Given the description of an element on the screen output the (x, y) to click on. 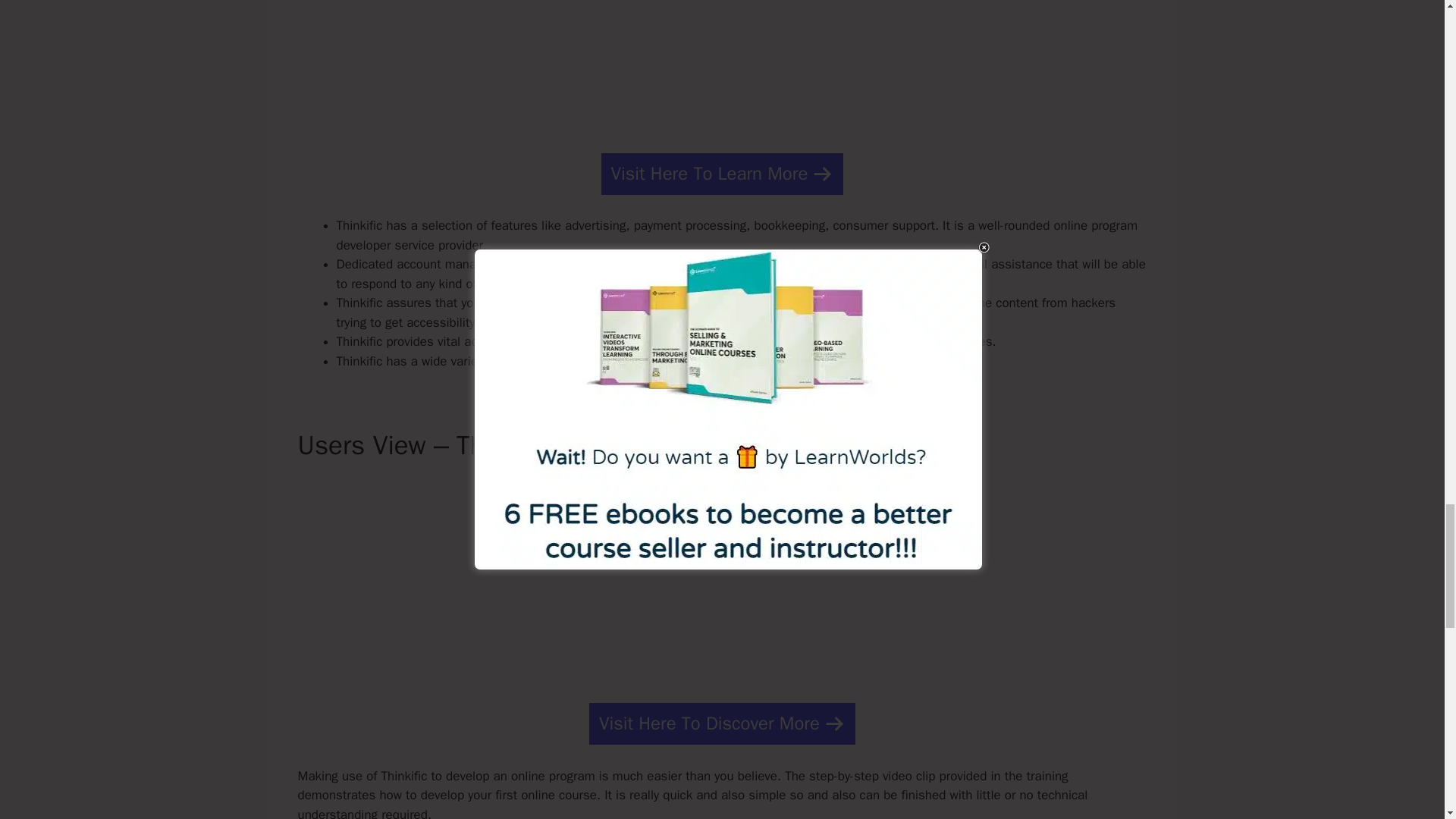
Visit Here To Discover More (722, 723)
Visit Here To Learn More (722, 173)
